Given the description of an element on the screen output the (x, y) to click on. 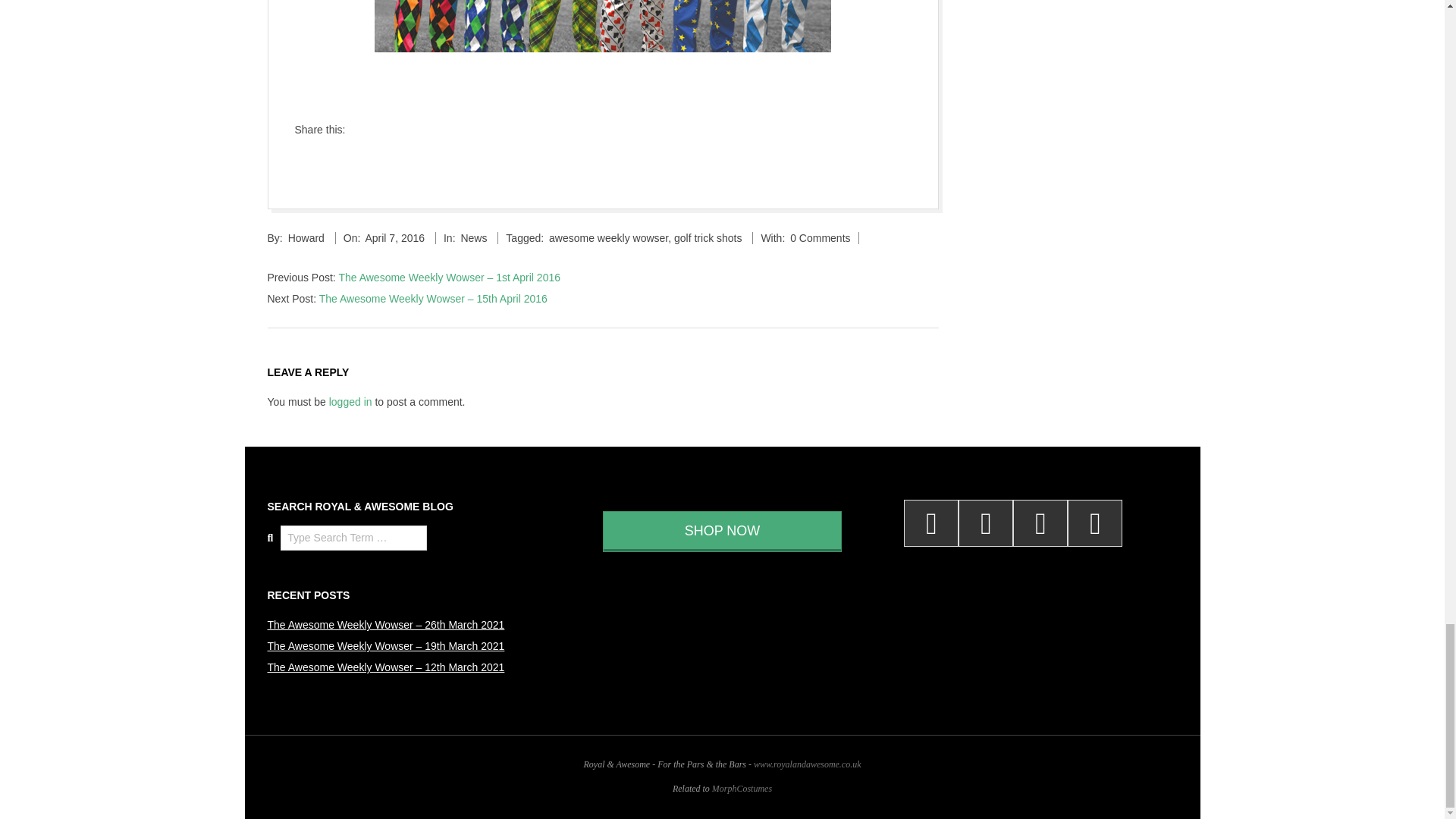
Thursday, April 7, 2016, 12:50 pm (395, 237)
SHOP NOW (721, 531)
awesome weekly wowser (608, 237)
News (473, 237)
golf trick shots (707, 237)
0 Comments (820, 237)
Howard (306, 237)
logged in (350, 401)
Posts by Howard (306, 237)
